Given the description of an element on the screen output the (x, y) to click on. 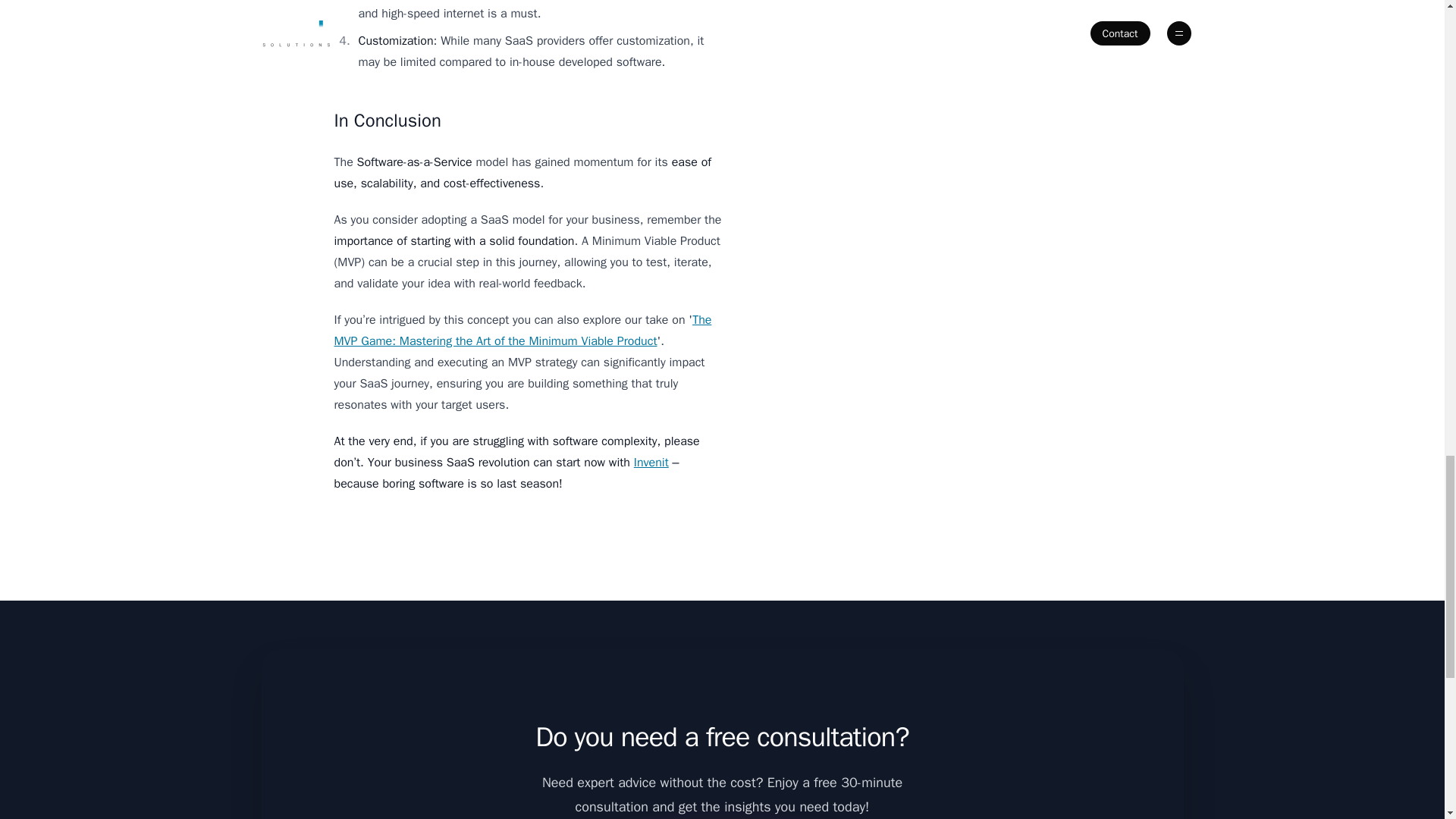
Invenit (650, 462)
